Given the description of an element on the screen output the (x, y) to click on. 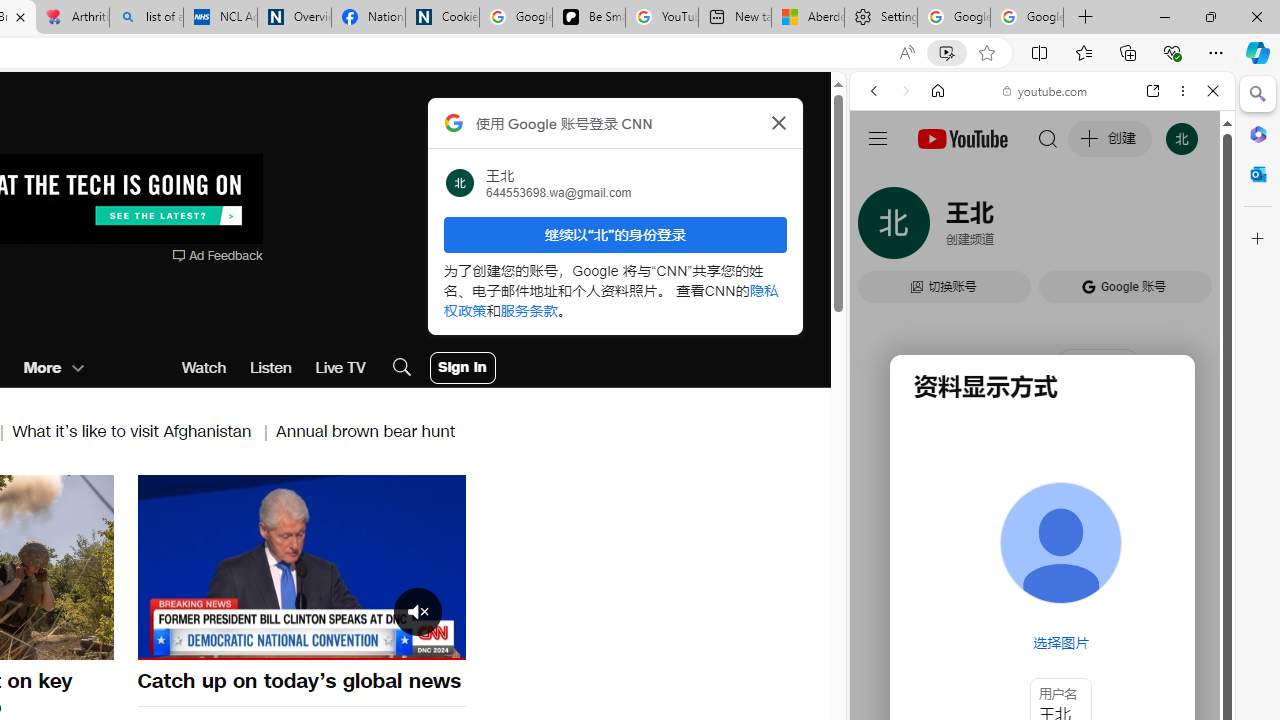
Backward 10 seconds (241, 565)
Forward 10 seconds (361, 566)
Backward 10 seconds (241, 566)
Pause (301, 567)
Captions Unavailable (350, 642)
Fullscreen (438, 642)
